Given the description of an element on the screen output the (x, y) to click on. 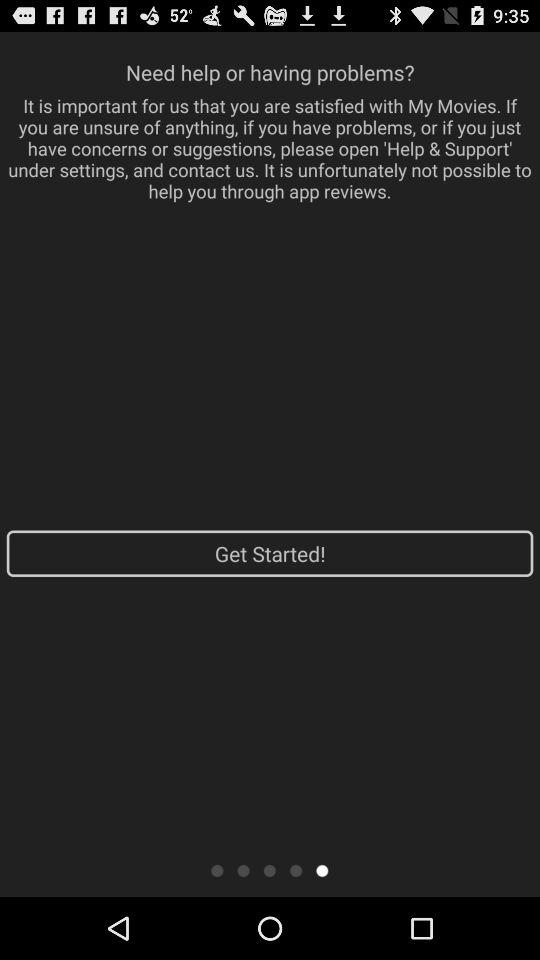
choose the app at the center (269, 553)
